Given the description of an element on the screen output the (x, y) to click on. 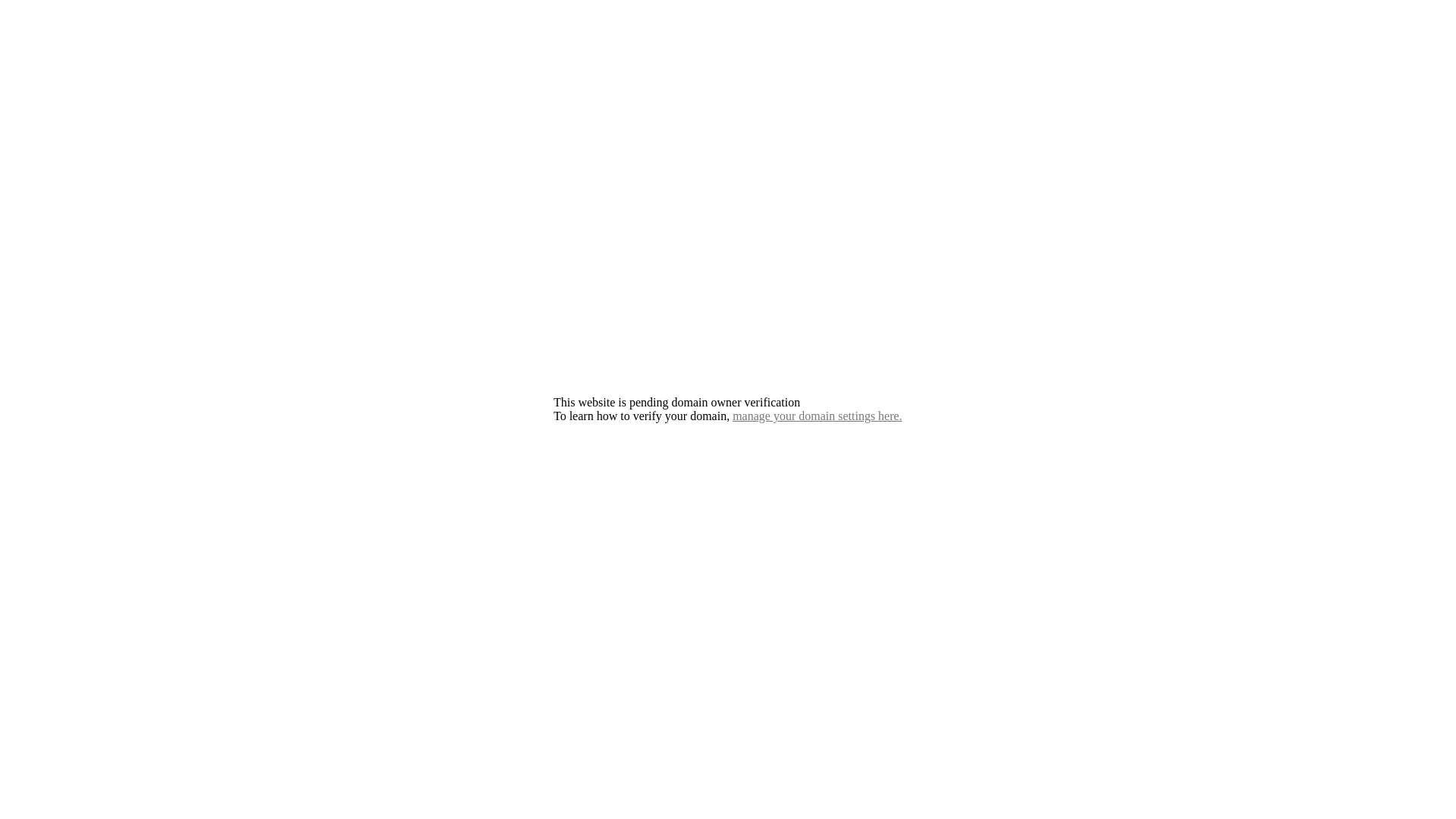
manage your domain settings here. Element type: text (817, 415)
